Given the description of an element on the screen output the (x, y) to click on. 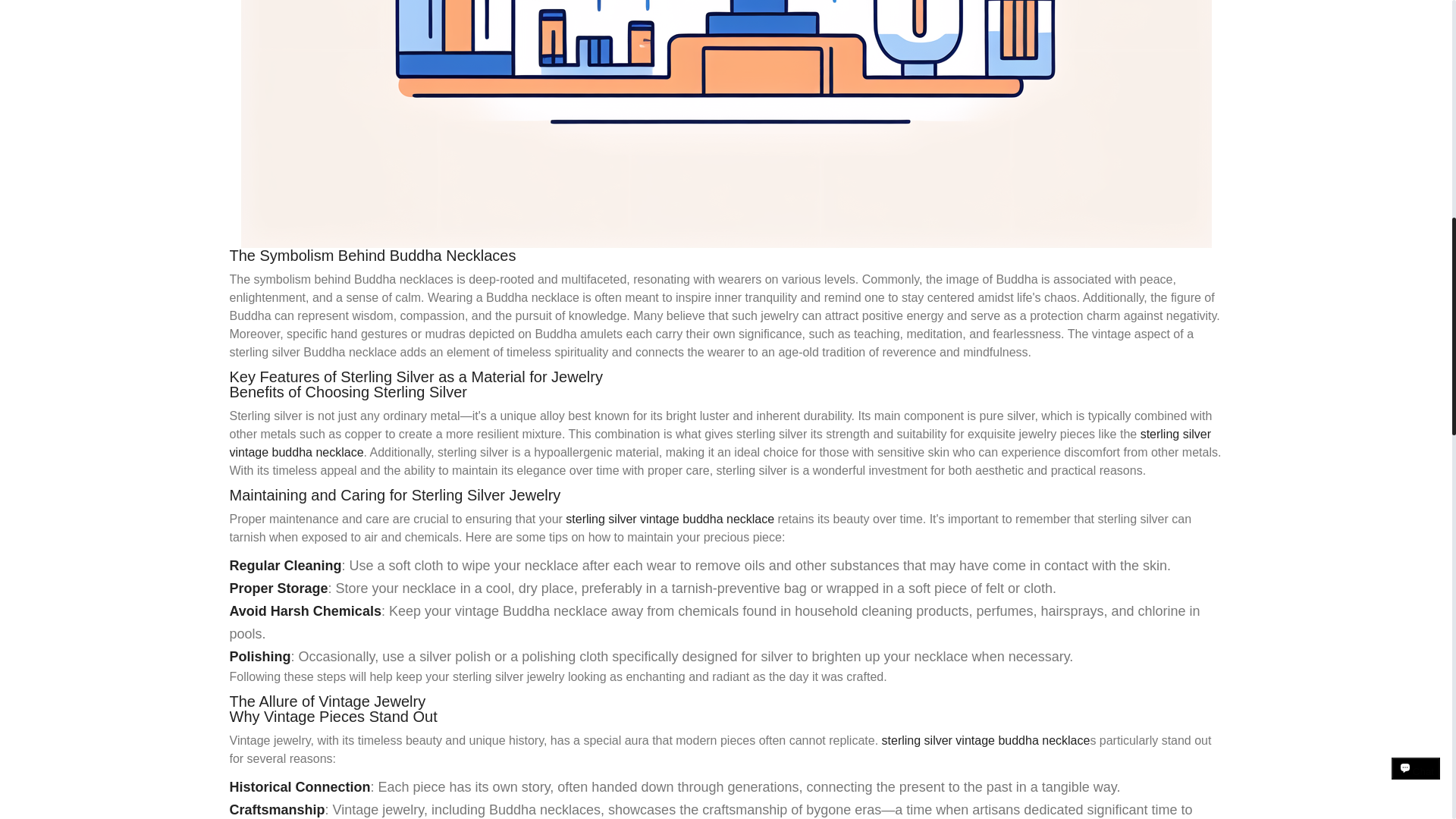
sterling silver vintage buddha necklace (670, 518)
sterling silver vintage buddha necklace (718, 442)
sterling silver vintage buddha necklace (986, 739)
